Given the description of an element on the screen output the (x, y) to click on. 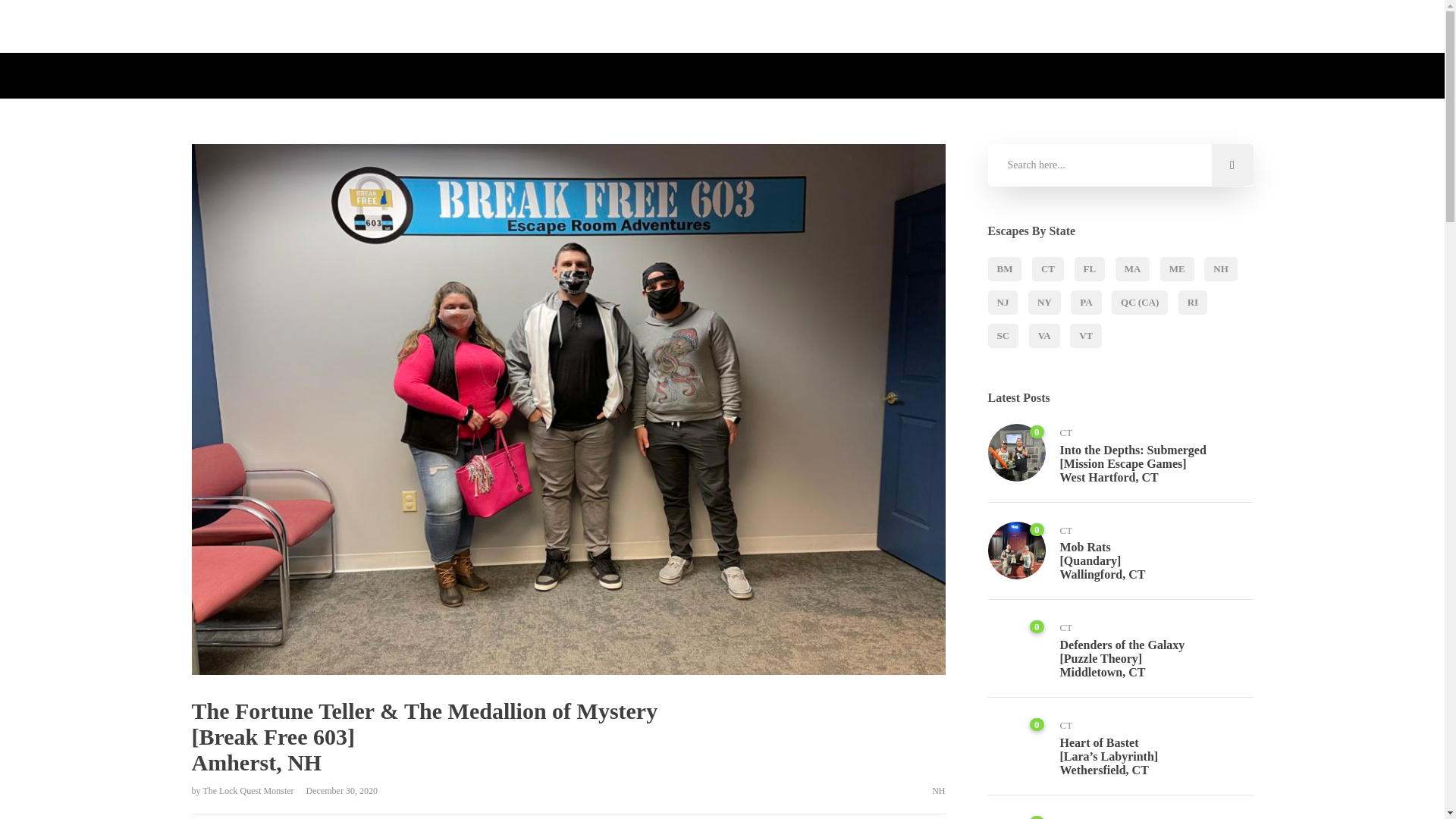
December 30, 2020 (337, 790)
Our Escapes (665, 26)
Home (534, 26)
Search text (1119, 165)
Ratings Explained (832, 26)
Top Rooms (742, 26)
BM (1004, 269)
NY (1044, 302)
NH (1220, 269)
NH (937, 790)
FL (1089, 269)
NJ (1002, 302)
About Us (591, 26)
The Lock Quest Monster (248, 790)
ME (1176, 269)
